Given the description of an element on the screen output the (x, y) to click on. 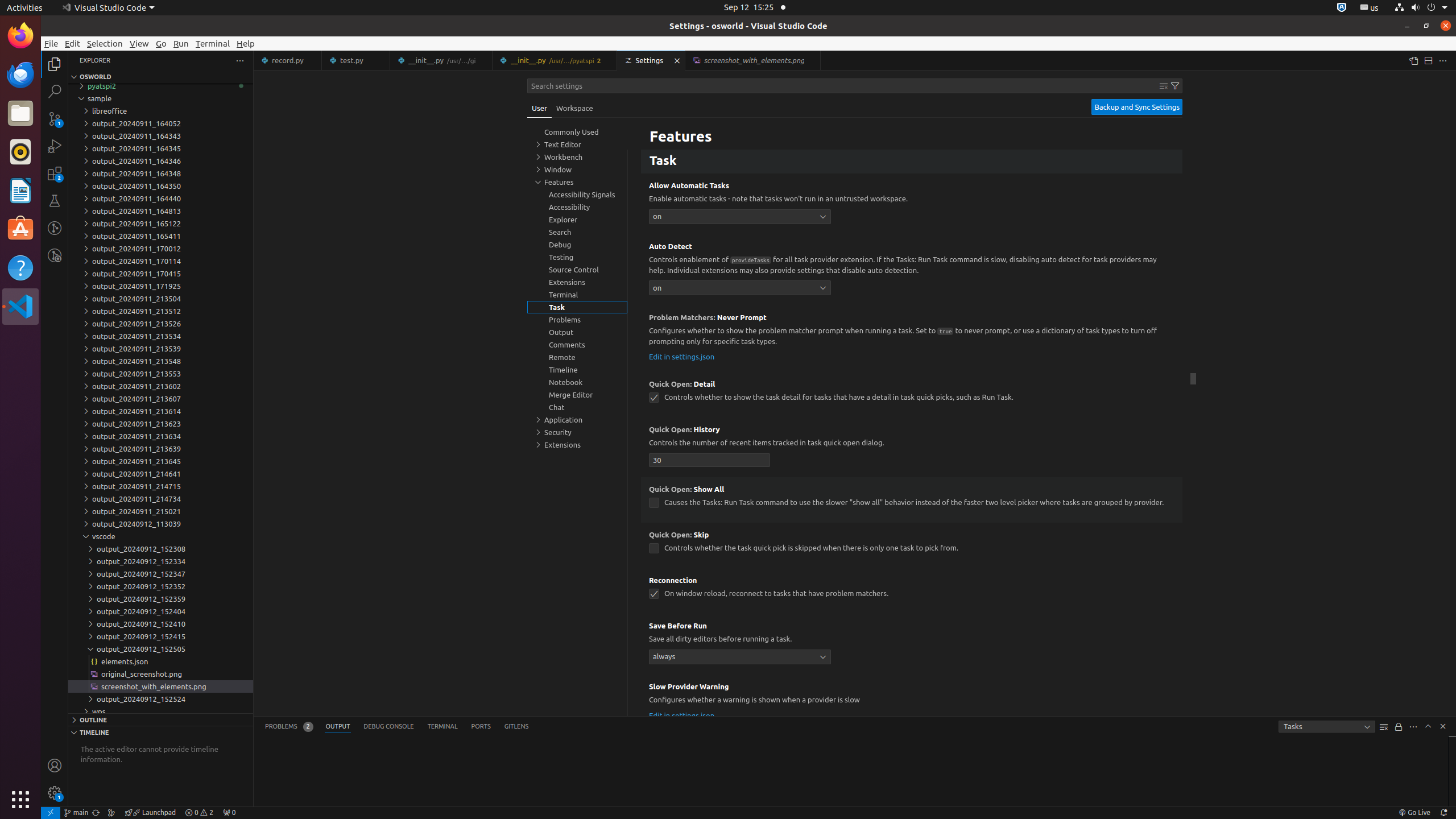
Outline Section Element type: push-button (160, 719)
Tasks Element type: menu-item (1326, 726)
More Actions... Element type: push-button (1442, 60)
Debug, group Element type: tree-item (577, 244)
